Given the description of an element on the screen output the (x, y) to click on. 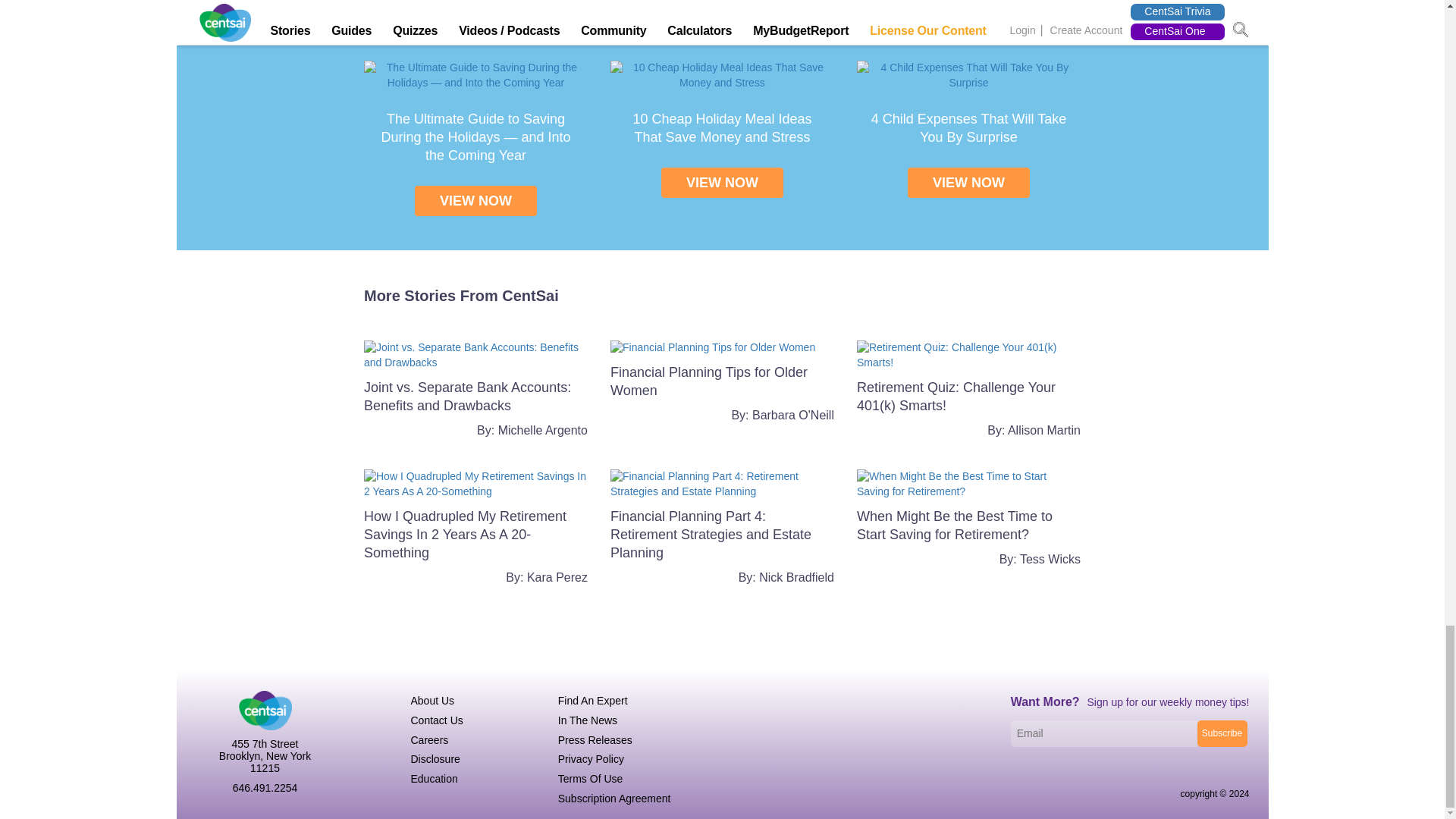
Subscribe (1221, 733)
10 Cheap Holiday Meal Ideas That Save Money and Stress (720, 127)
Financial Planning Tips for Older Women (709, 381)
10 Cheap Holiday Meal Ideas That Save Money and Stress (722, 74)
VIEW NOW (968, 182)
Joint vs. Separate Bank Accounts: Benefits and Drawbacks (467, 396)
Joint vs. Separate Bank Accounts: Benefits and Drawbacks (476, 354)
Financial Planning Tips for Older Women (712, 346)
VIEW NOW (722, 182)
4 Child Expenses That Will Take You By Surprise (967, 127)
